Given the description of an element on the screen output the (x, y) to click on. 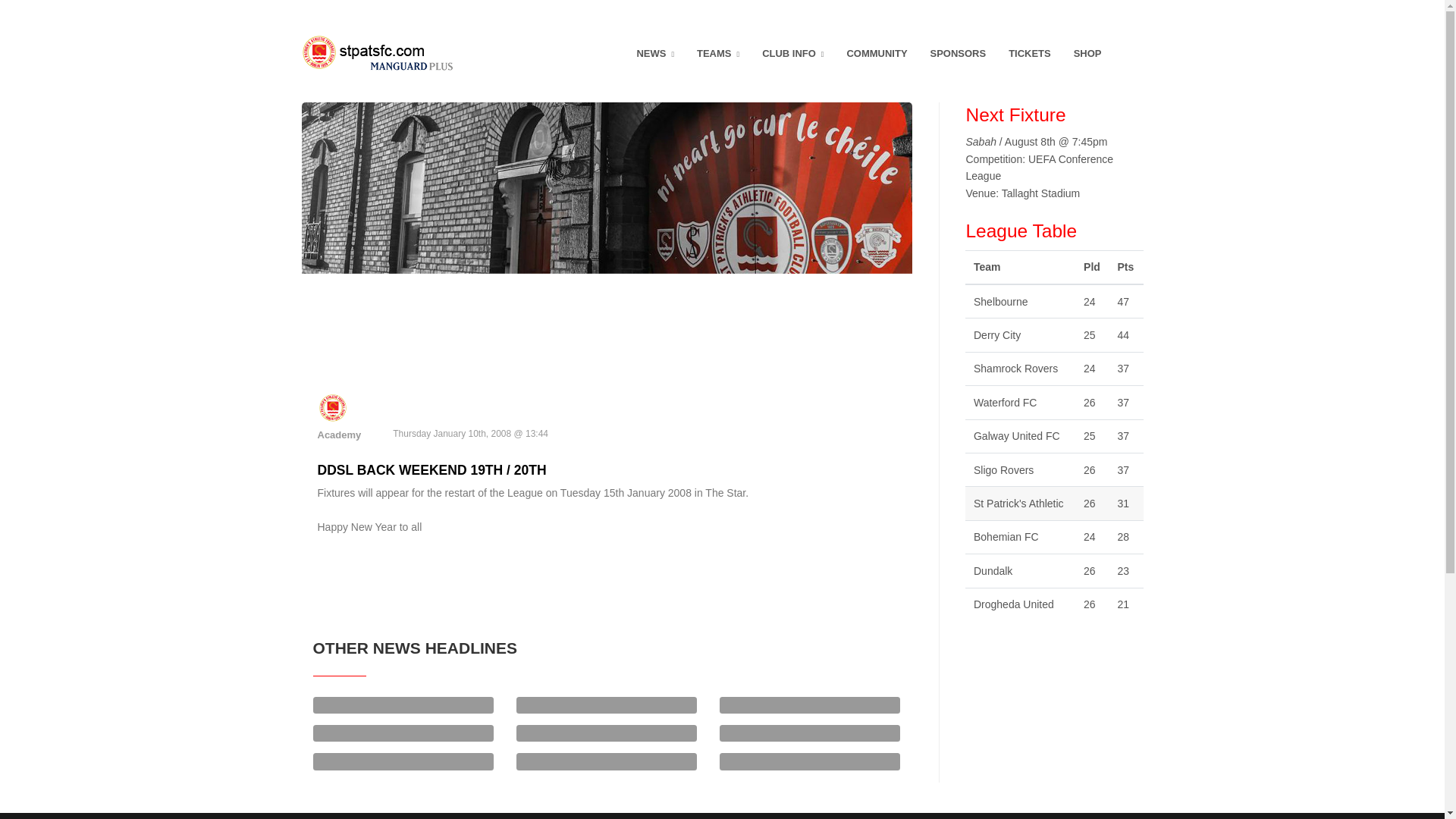
NEWS (655, 53)
TEAMS (718, 53)
